Given the description of an element on the screen output the (x, y) to click on. 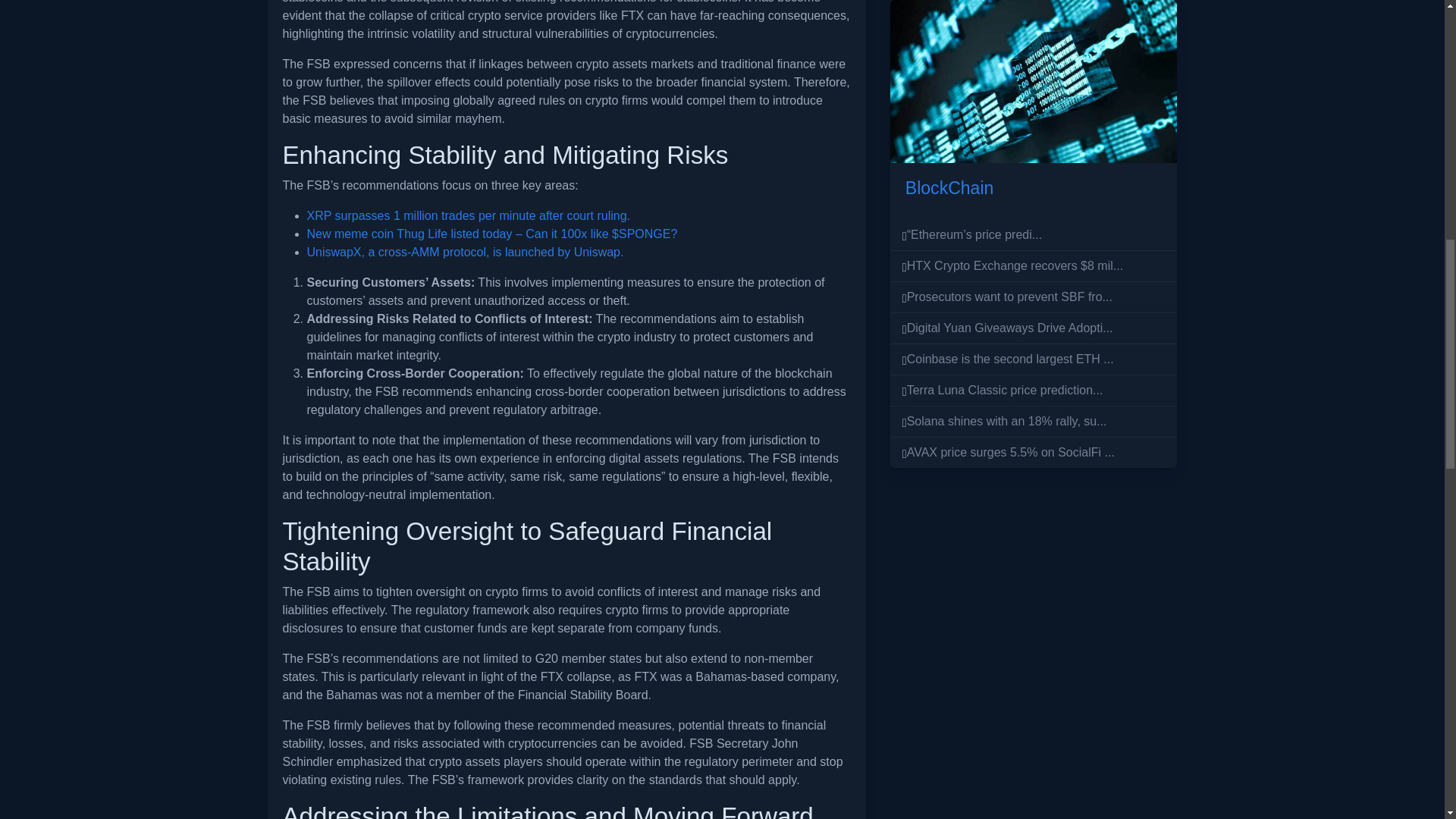
UniswapX, a cross-AMM protocol, is launched by Uniswap. (464, 251)
